Given the description of an element on the screen output the (x, y) to click on. 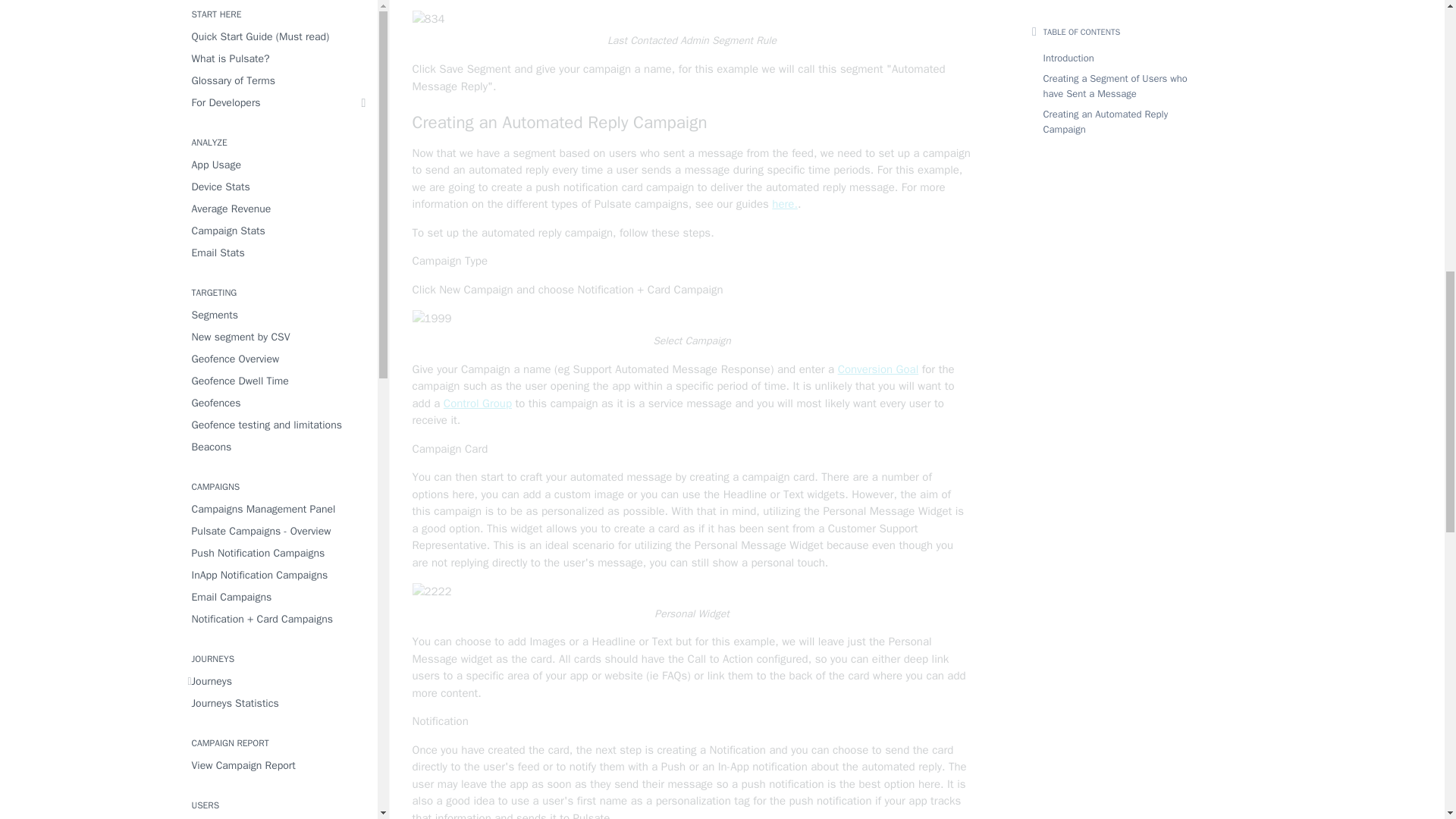
Screenshot 2019-03-04 12.23.51.png (428, 18)
Creating an Automated Reply Campaign (692, 122)
New Campaign page.png (431, 318)
Automated message card.png (431, 591)
